Given the description of an element on the screen output the (x, y) to click on. 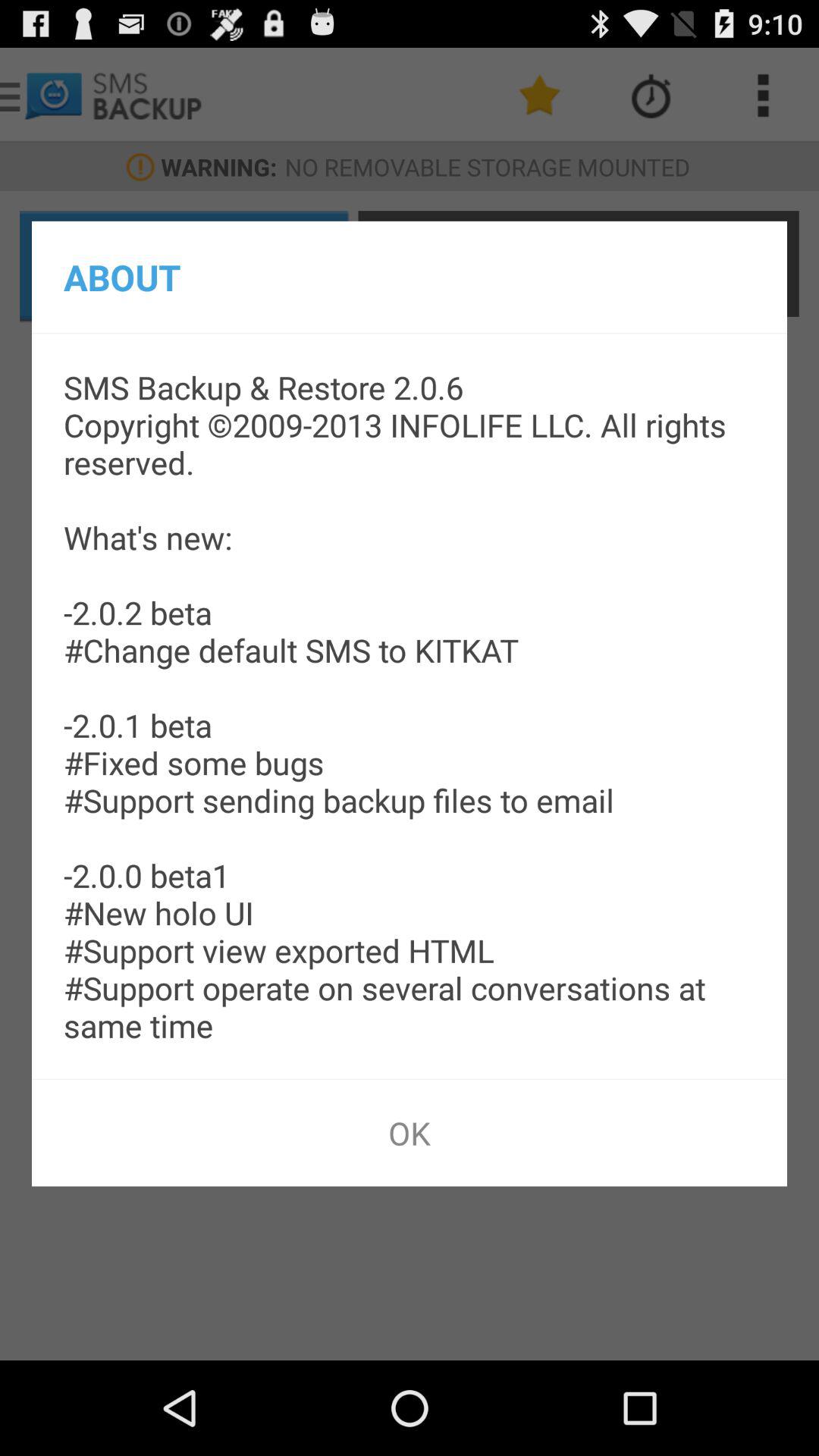
choose the app below the about item (409, 705)
